Given the description of an element on the screen output the (x, y) to click on. 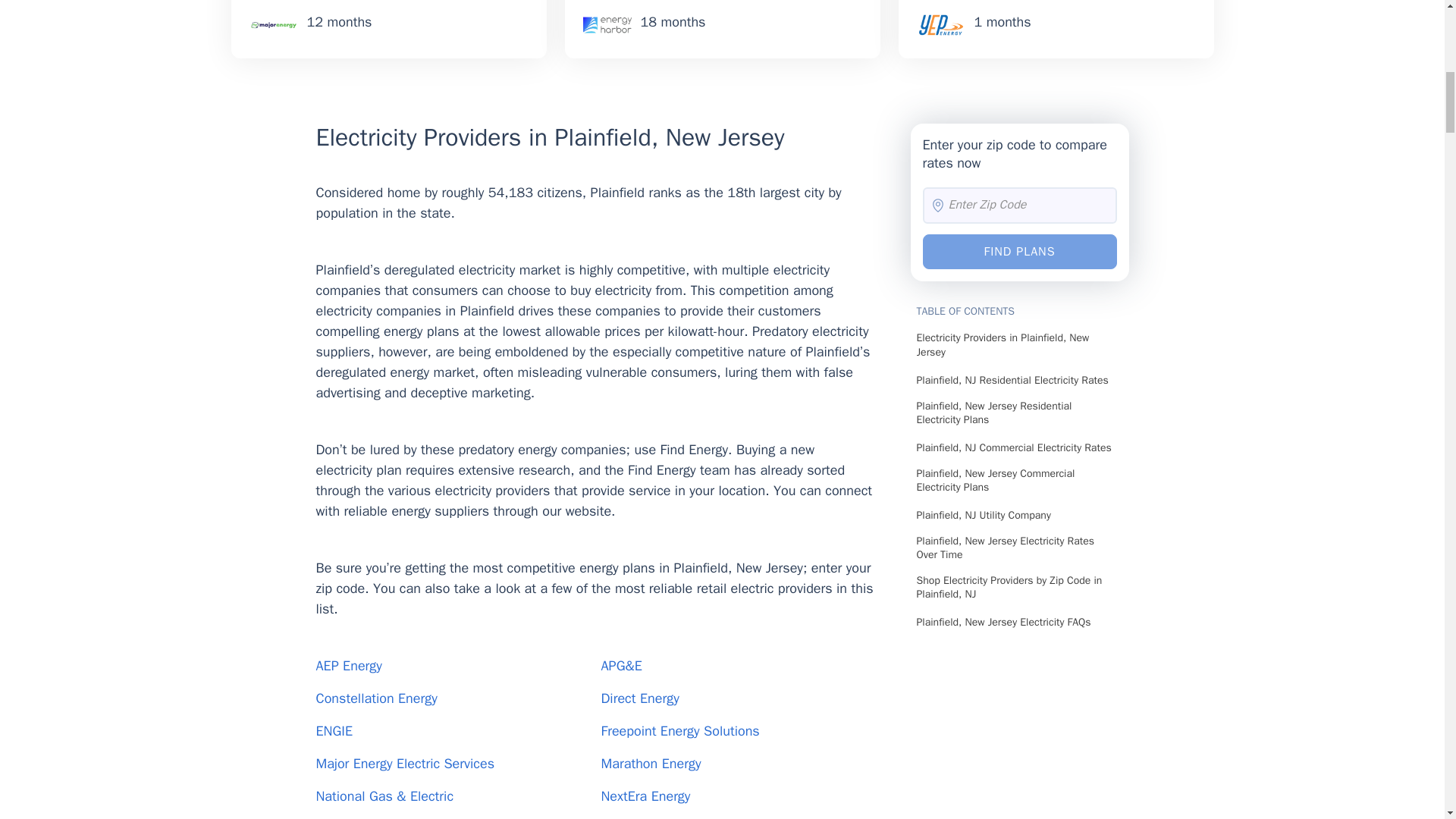
ENGIE (333, 730)
Marathon Energy (649, 763)
Constellation Energy (375, 698)
AEP Energy (348, 665)
Direct Energy (638, 698)
Major Energy Electric Services (404, 763)
NextEra Energy (644, 795)
Freepoint Energy Solutions (678, 730)
Electricity Providers in Plainfield, New Jersey (594, 140)
